Given the description of an element on the screen output the (x, y) to click on. 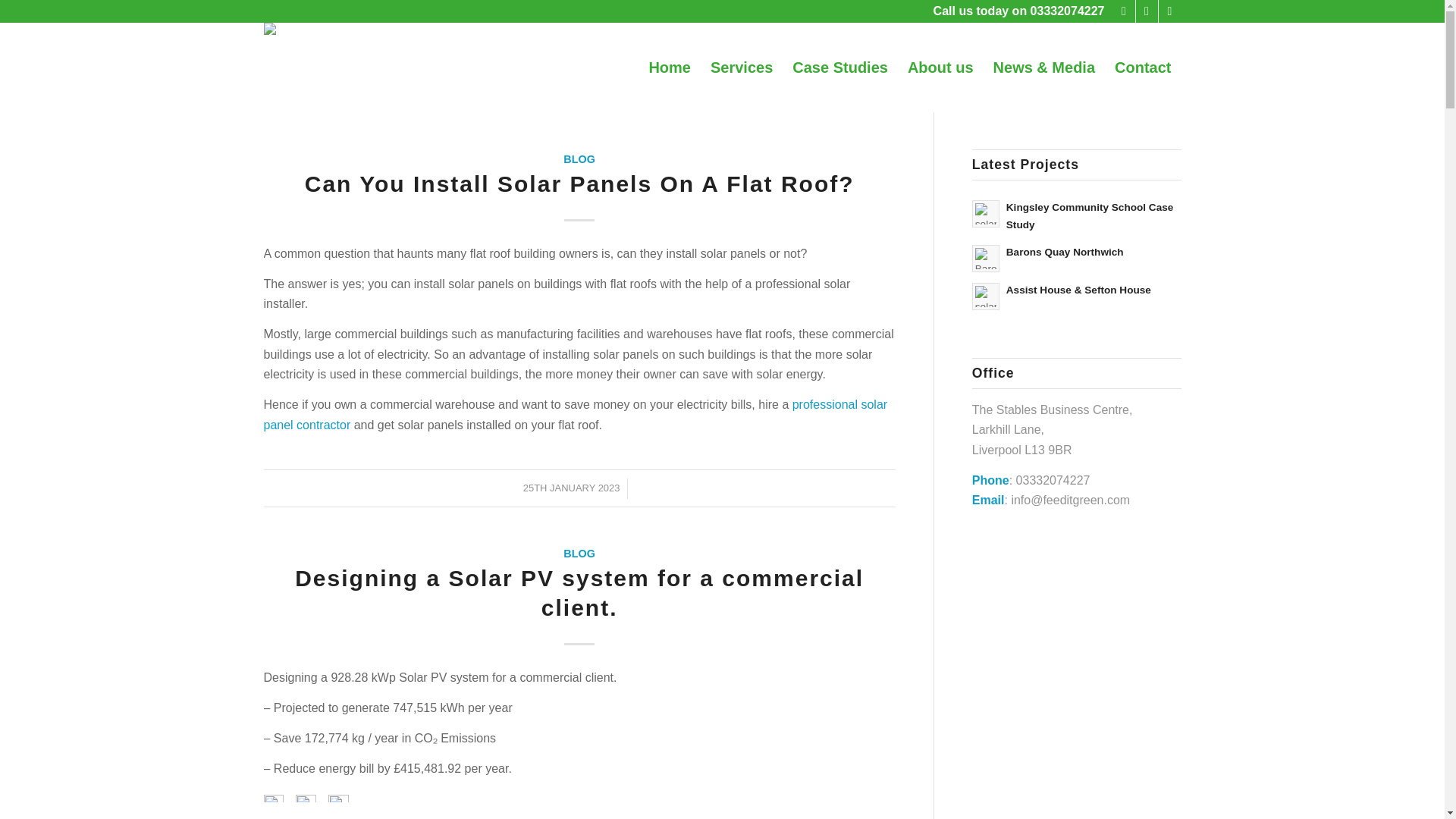
Permanent Link: Can You Install Solar Panels On A Flat Roof? (579, 183)
Services (741, 67)
Designing a Solar PV system for a commercial client. (579, 592)
BLOG (579, 159)
Case Studies (840, 67)
Twitter (1146, 11)
Can You Install Solar Panels On A Flat Roof? (579, 183)
Facebook (1124, 11)
Instagram (1169, 11)
BLOG (579, 553)
